Given the description of an element on the screen output the (x, y) to click on. 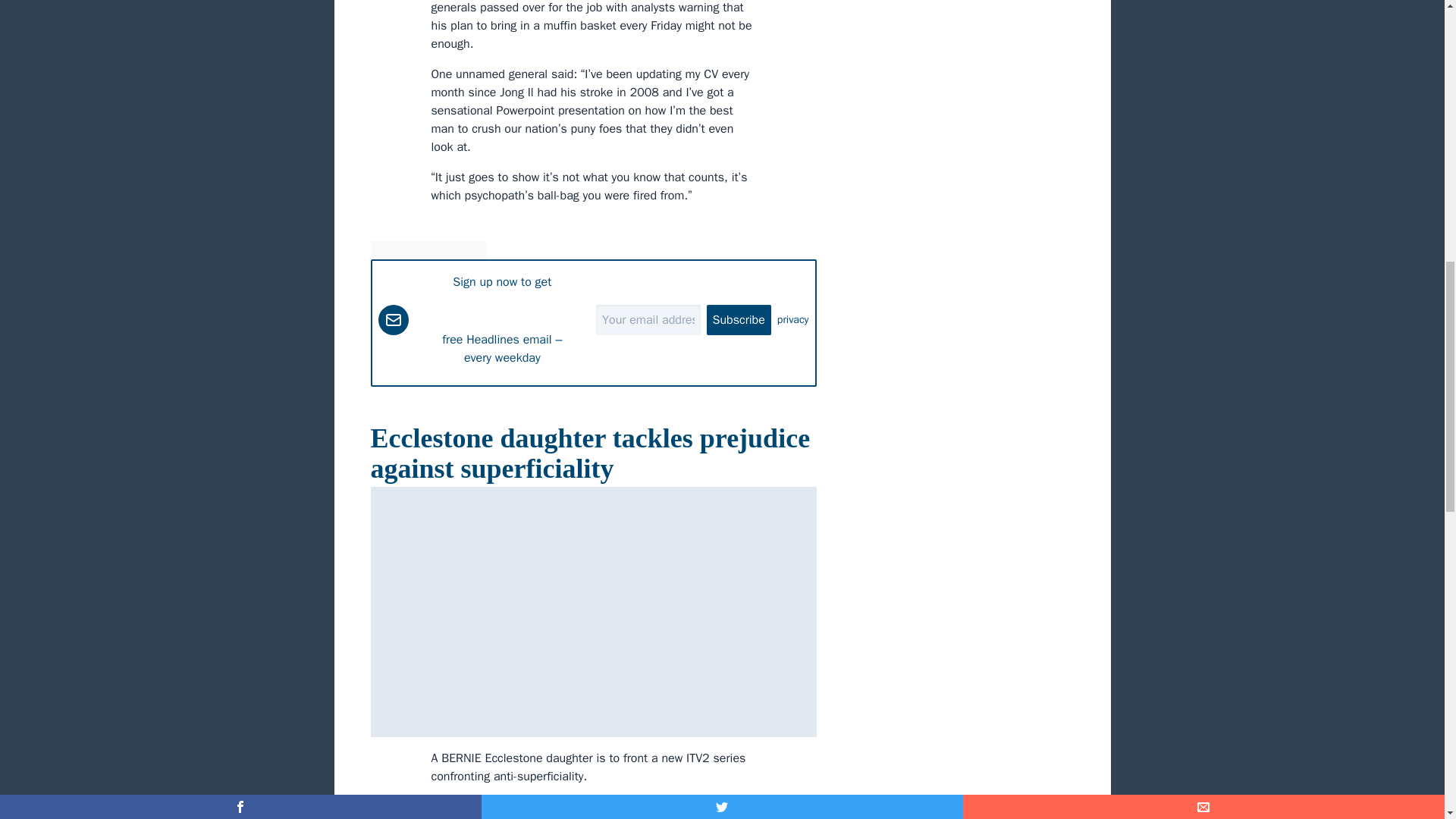
privacy (793, 319)
Subscribe (738, 319)
